Given the description of an element on the screen output the (x, y) to click on. 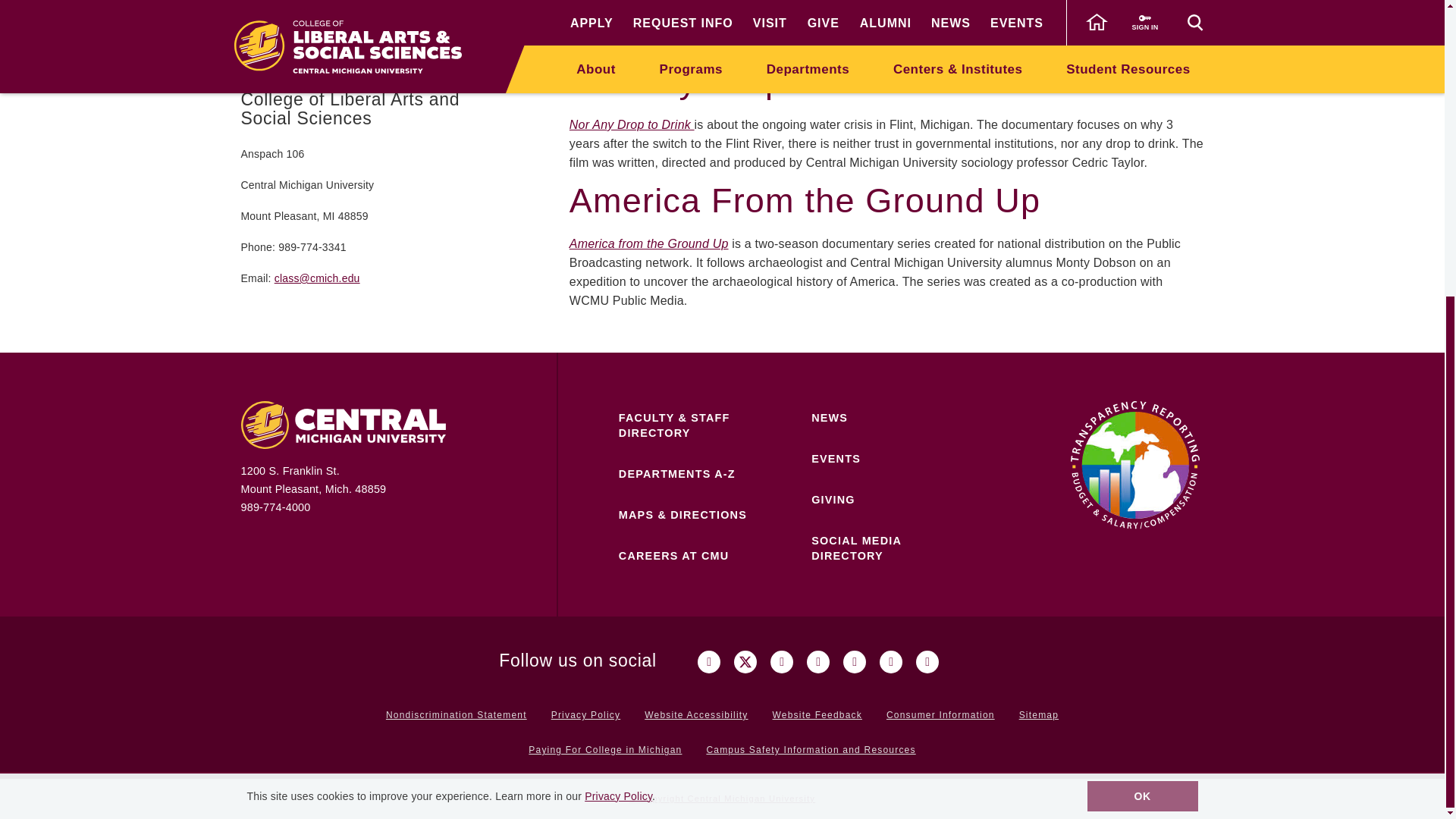
Privacy Policy (618, 338)
America from the Ground Up (649, 243)
Nor Any Drop to Drink  (631, 124)
OK (1142, 338)
